Given the description of an element on the screen output the (x, y) to click on. 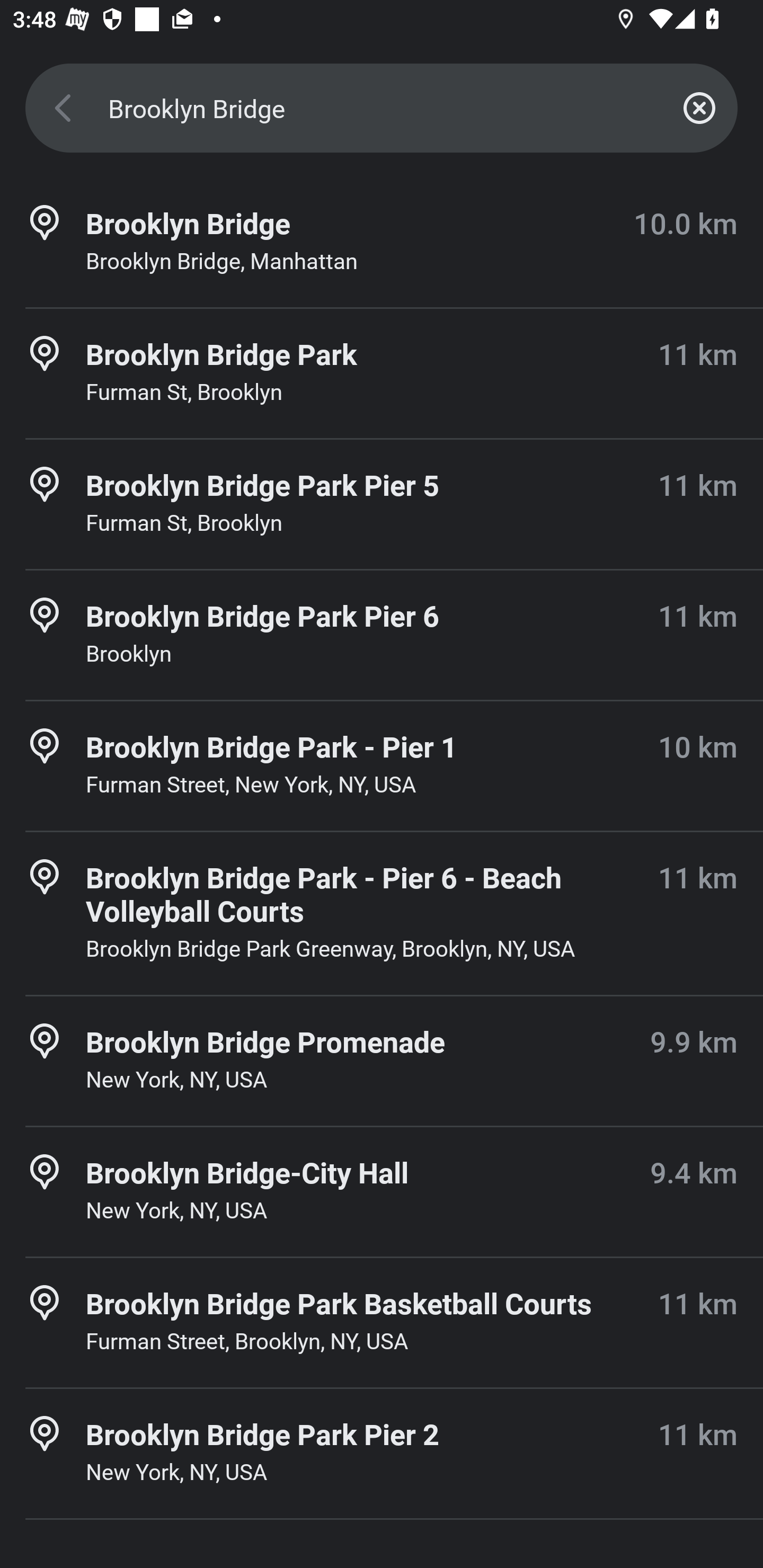
Brooklyn Bridge SEARCH_SCREEN_SEARCH_FIELD (381, 108)
Brooklyn Bridge 10.0 km Brooklyn Bridge, Manhattan (381, 242)
Brooklyn Bridge Park 11 km Furman St, Brooklyn (381, 372)
Brooklyn Bridge Park Pier 6 11 km Brooklyn (381, 634)
Brooklyn Bridge Promenade 9.9 km New York, NY, USA (381, 1060)
Brooklyn Bridge-City Hall 9.4 km New York, NY, USA (381, 1191)
